Given the description of an element on the screen output the (x, y) to click on. 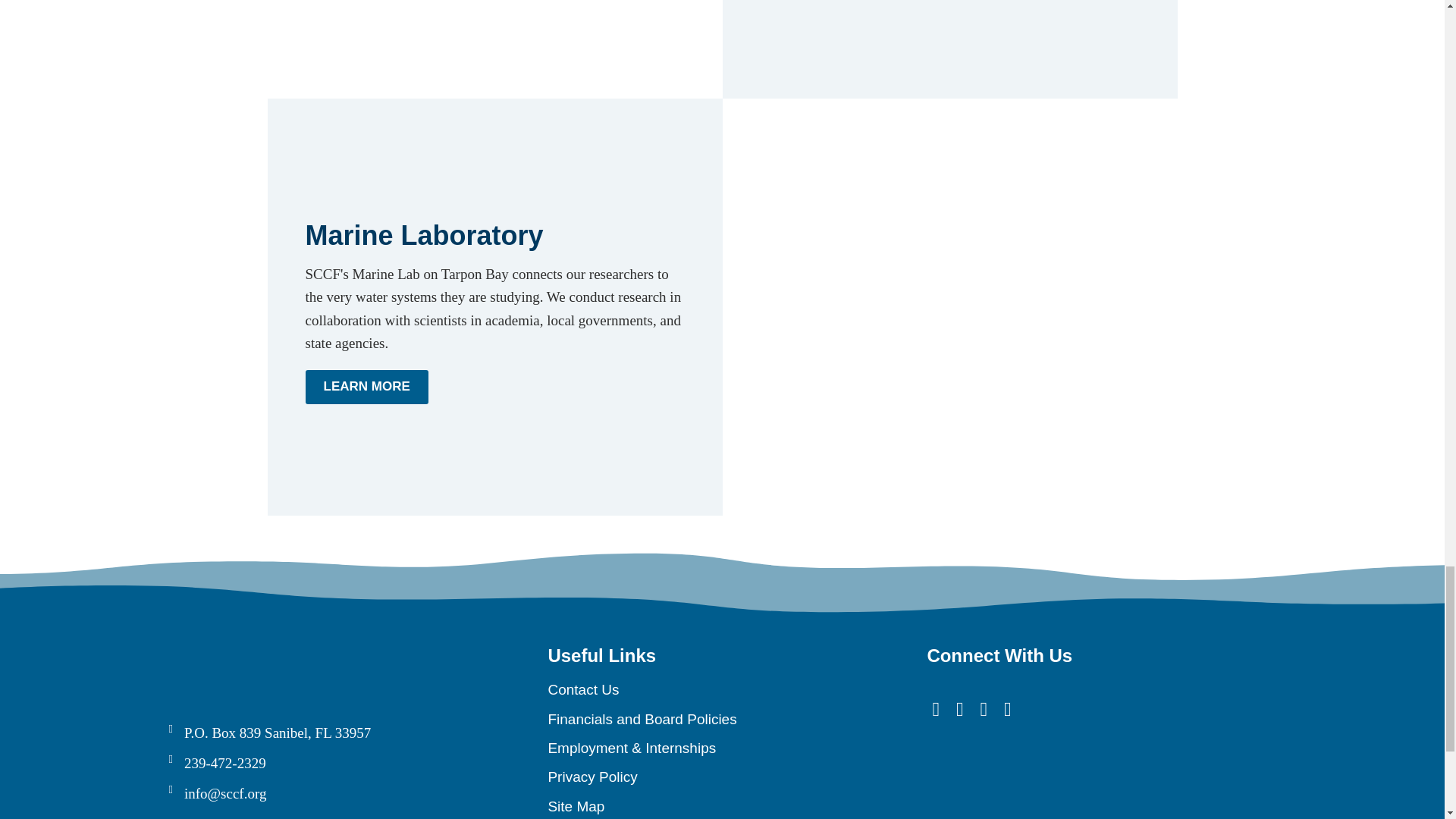
Four Star Rating Badge Full Color (983, 785)
Twitter (983, 709)
Instagram (1007, 709)
Sccf Logo New (282, 667)
Facebook (935, 709)
YouTube (959, 709)
